Given the description of an element on the screen output the (x, y) to click on. 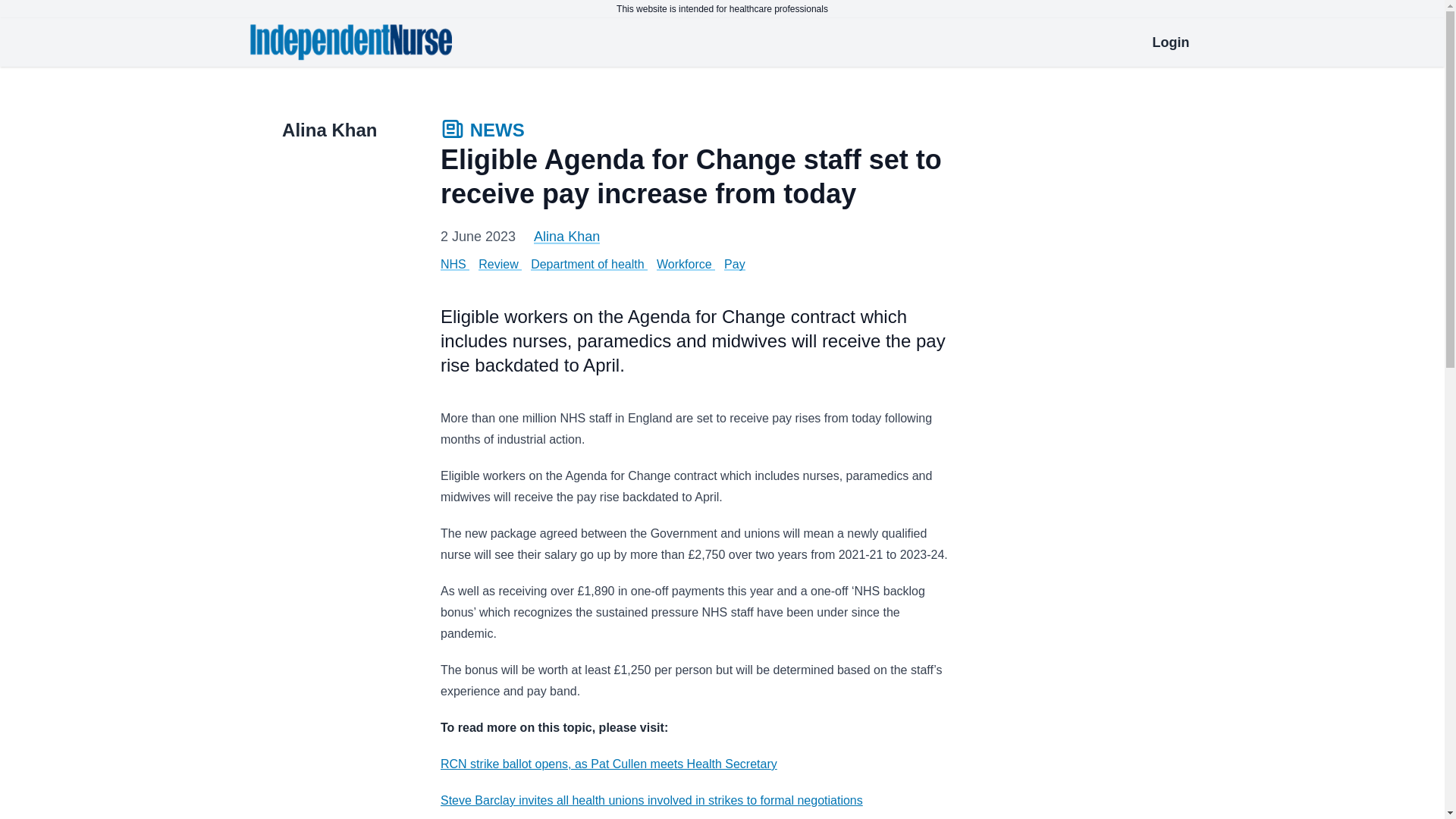
Login (1171, 41)
Alina Khan (566, 236)
NEWS (482, 132)
